Given the description of an element on the screen output the (x, y) to click on. 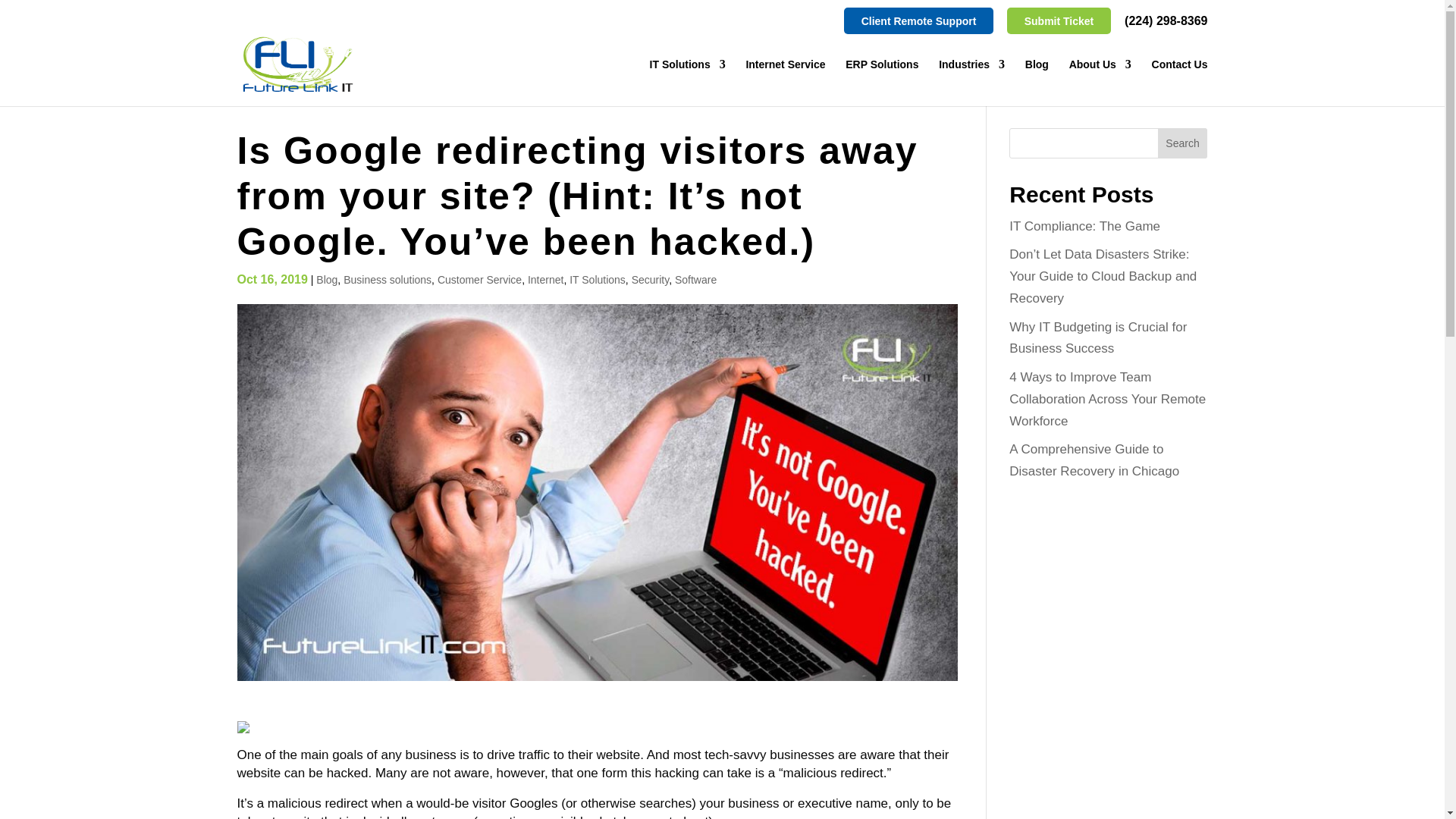
Internet (545, 279)
Security (650, 279)
Industries (971, 82)
IT Solutions (687, 82)
Customer Service (479, 279)
Blog (326, 279)
Business solutions (386, 279)
Software (695, 279)
Search (1182, 142)
Client Remote Support (918, 21)
